Given the description of an element on the screen output the (x, y) to click on. 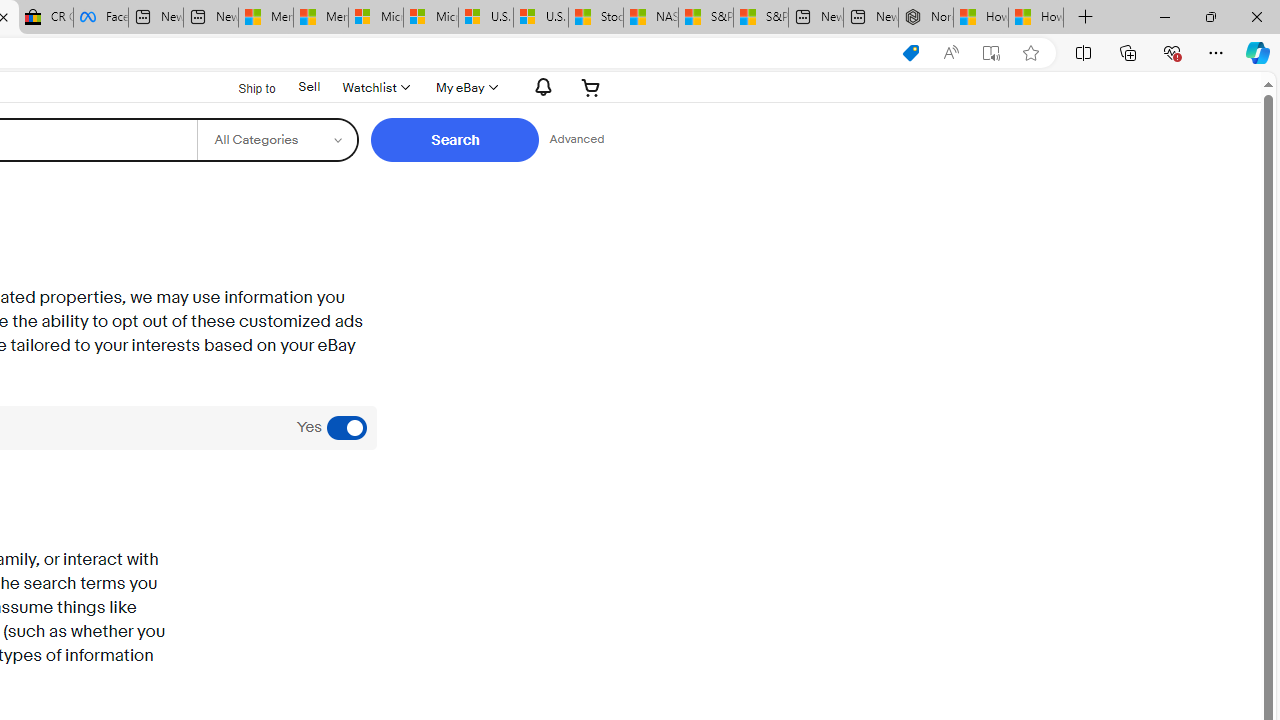
Enter Immersive Reader (F9) (991, 53)
Sell (308, 86)
Your shopping cart (591, 87)
Sell (309, 87)
